Given the description of an element on the screen output the (x, y) to click on. 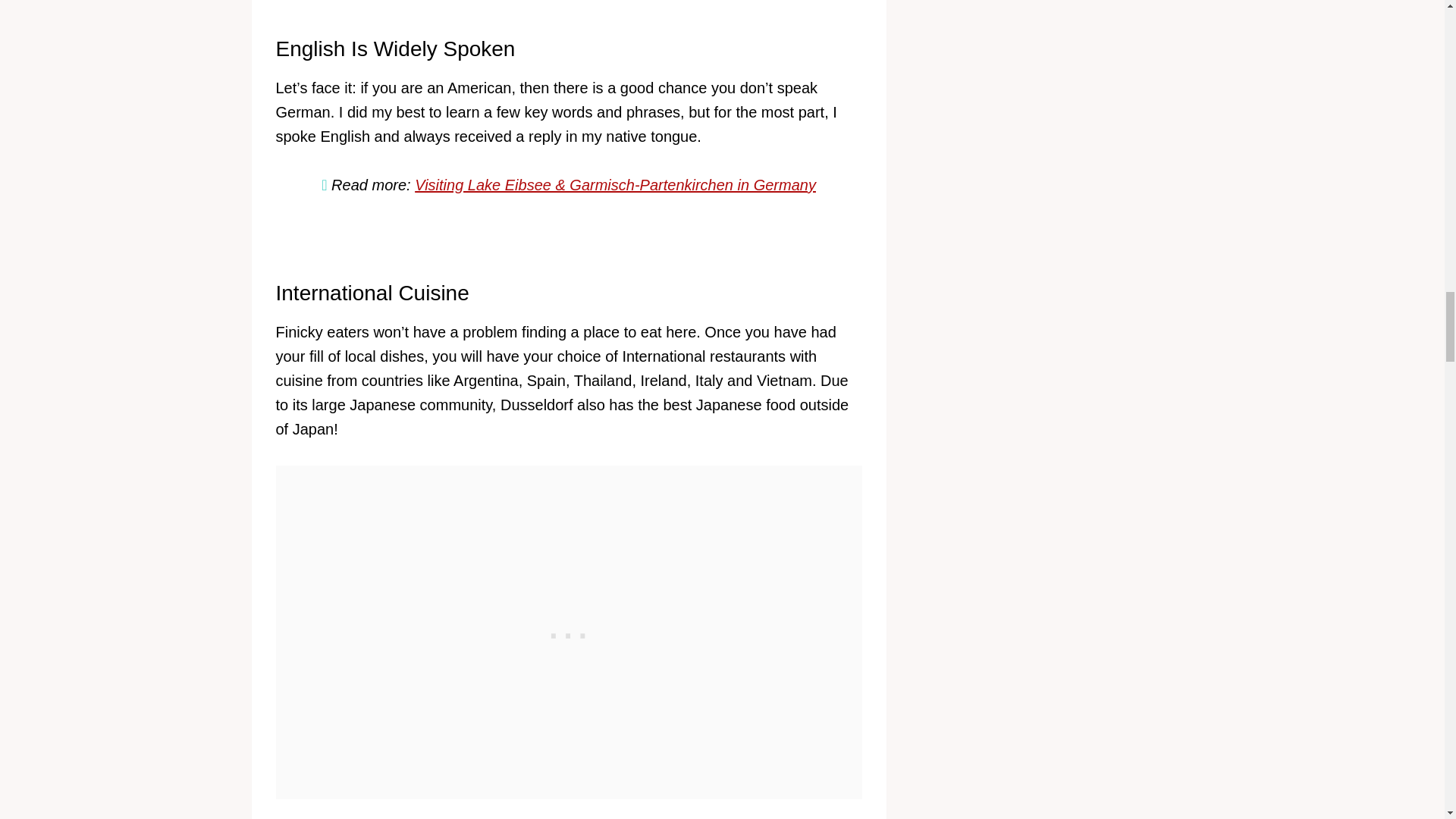
5 Reasons Why You Should Visit Dusseldorf, Germany (568, 812)
